Given the description of an element on the screen output the (x, y) to click on. 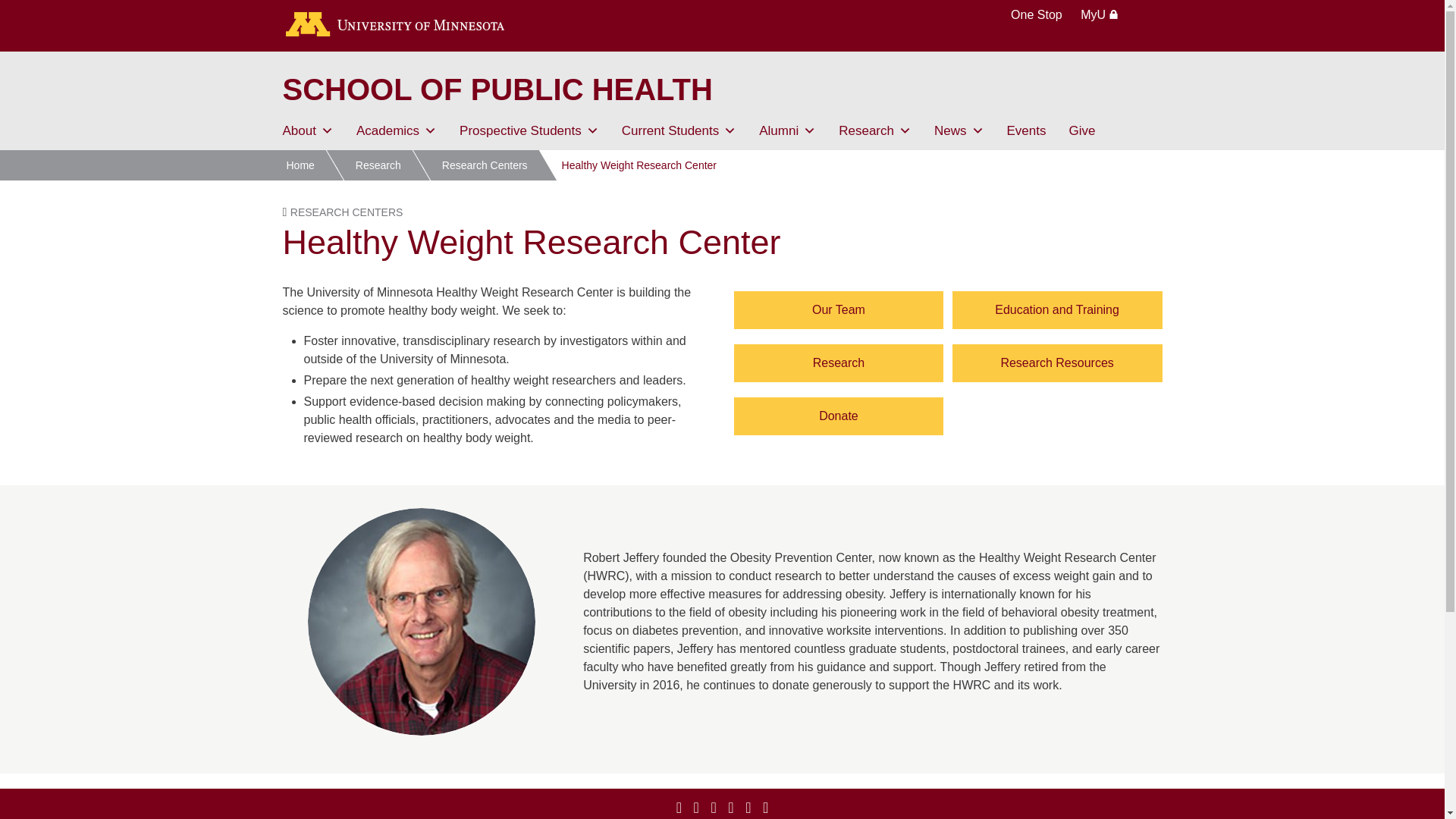
hwrc-jeffery-robert (421, 621)
SCHOOL OF PUBLIC HEALTH (496, 89)
MyU (1099, 14)
One Stop (1036, 14)
About (307, 130)
